Given the description of an element on the screen output the (x, y) to click on. 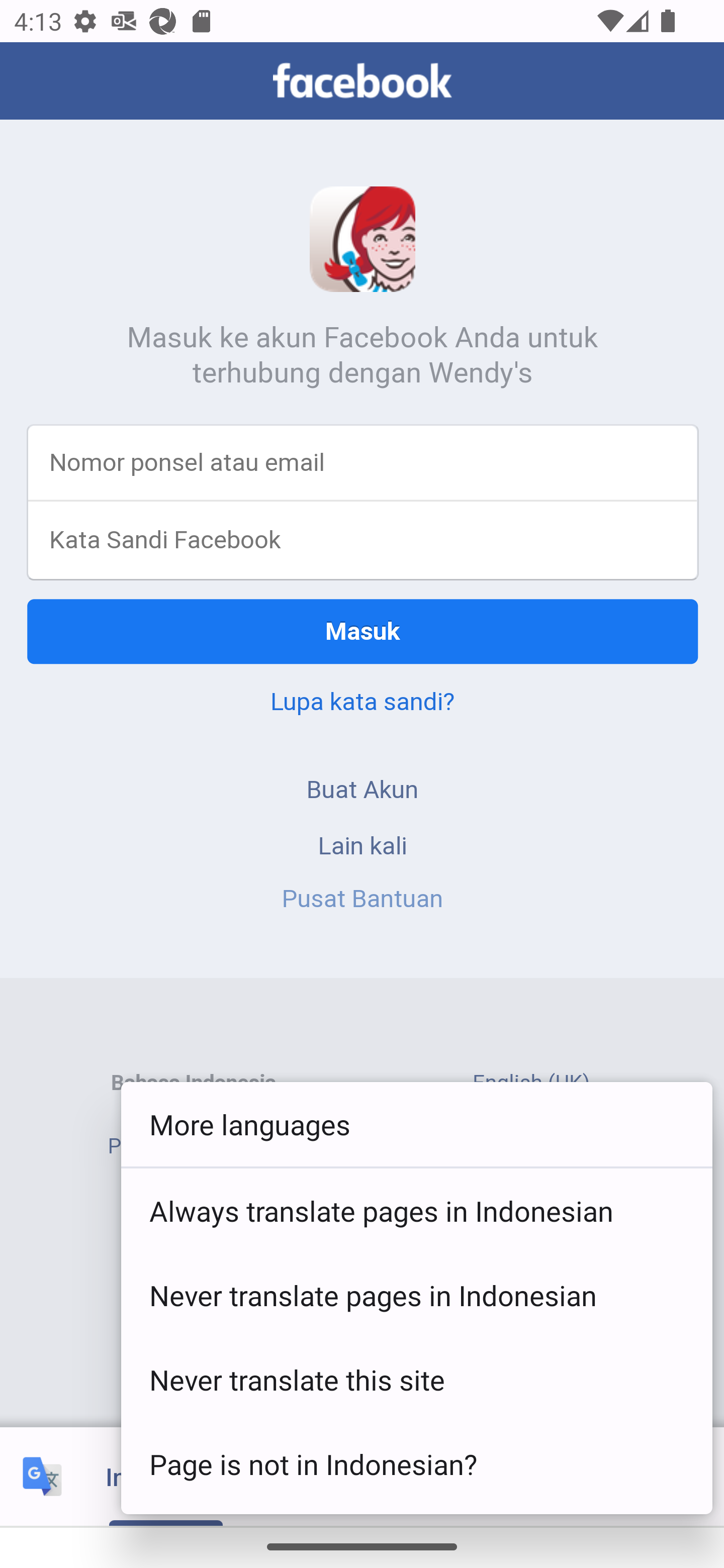
More languages (416, 1124)
Always translate pages in Indonesian (416, 1210)
Never translate pages in Indonesian (416, 1294)
Never translate this site (416, 1379)
Page is not in Indonesian? (416, 1464)
